Given the description of an element on the screen output the (x, y) to click on. 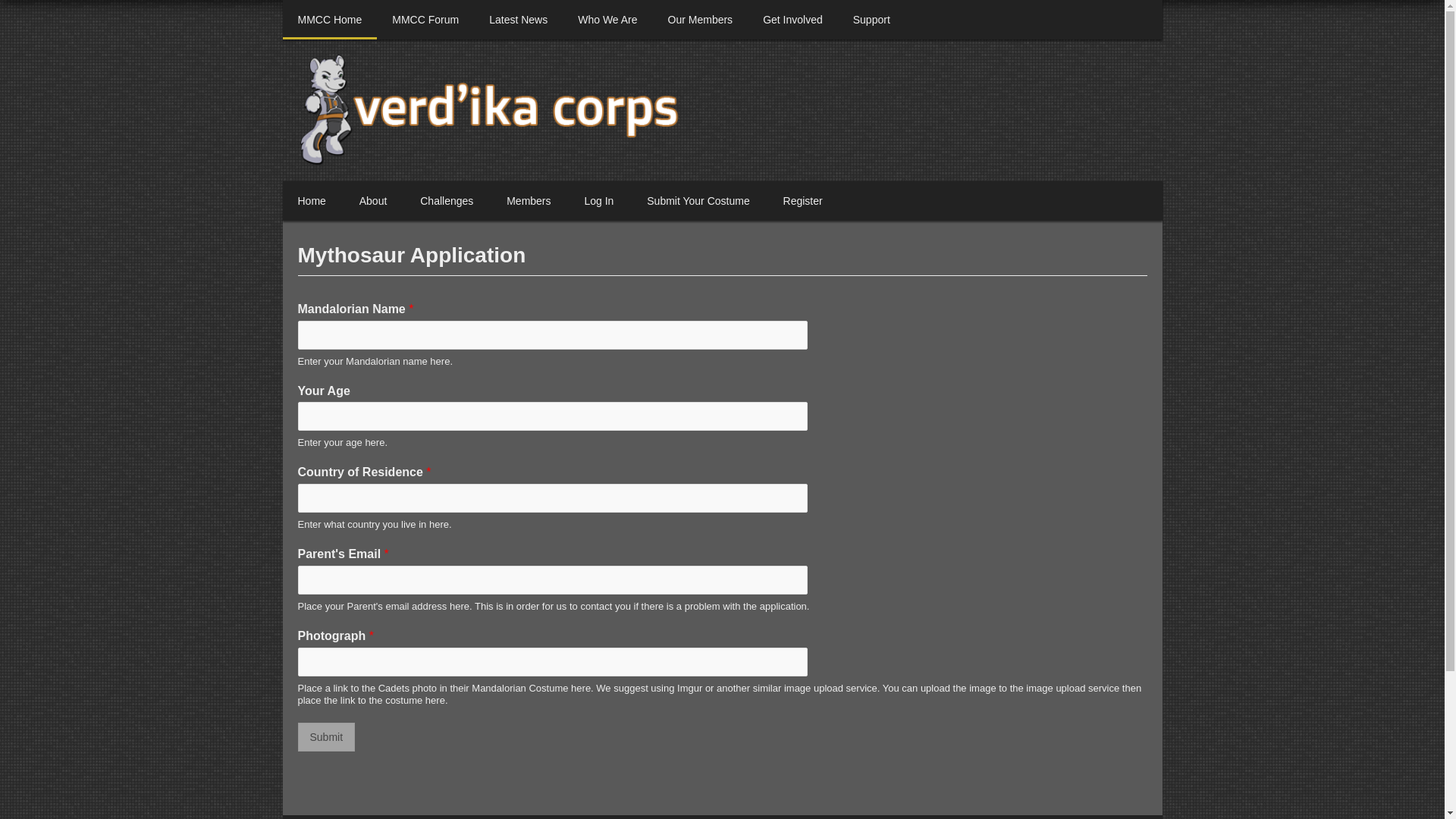
Latest News (518, 19)
Get Involved (793, 19)
Register (803, 200)
Log In (598, 200)
Submit Your Costume (697, 200)
Home (311, 200)
About (373, 200)
Submit (326, 736)
MMCC Home (329, 19)
MMCC Forum (425, 19)
Forum (425, 19)
Members (529, 200)
Who We Are (607, 19)
Support (871, 19)
Our Members (700, 19)
